Given the description of an element on the screen output the (x, y) to click on. 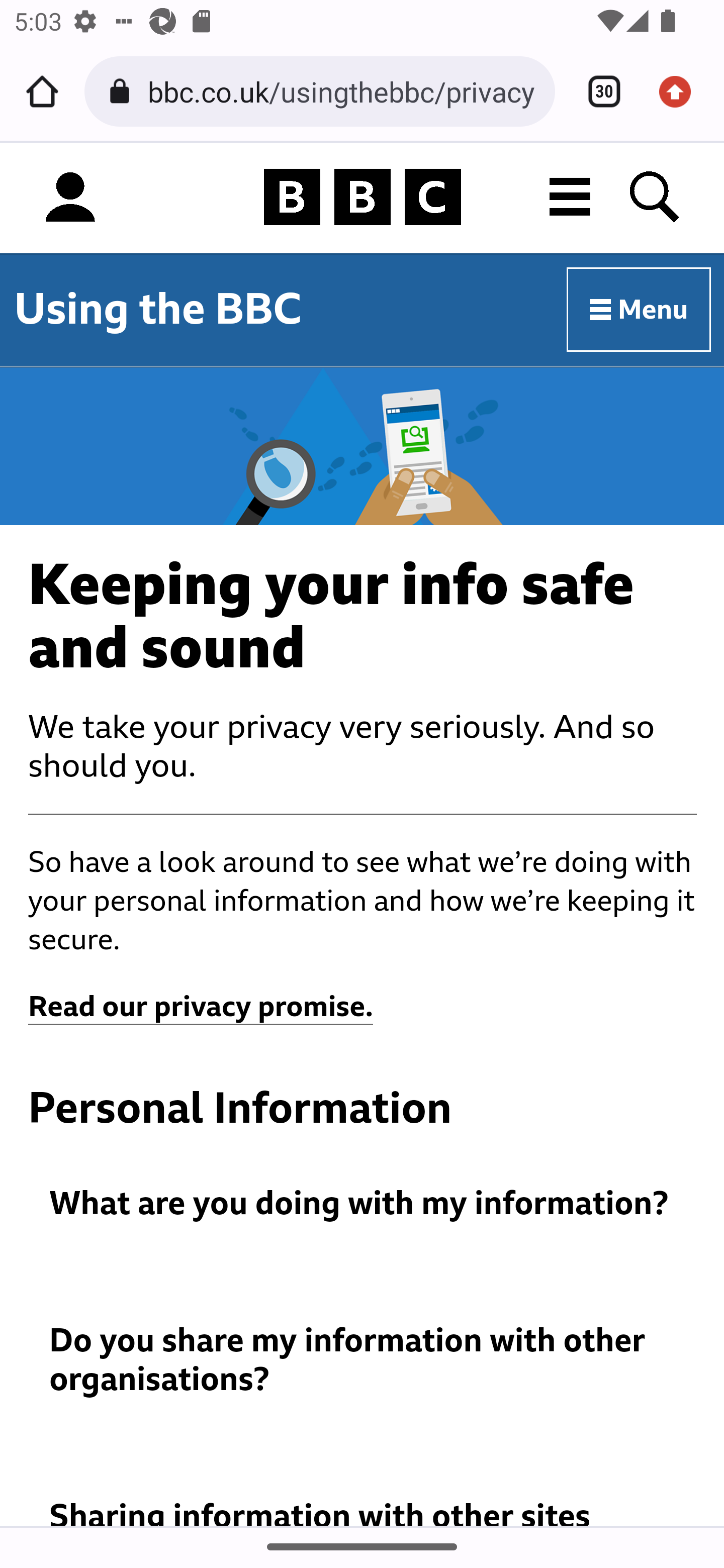
Home (42, 91)
Connection is secure (122, 91)
Switch or close tabs (597, 91)
Update available. More options (681, 91)
bbc.co.uk/usingthebbc/privacy (343, 90)
All BBC destinations menu (570, 197)
Search BBC (655, 197)
Sign in (70, 198)
Homepage (361, 198)
Menu (639, 310)
Using the BBC (157, 308)
Read our privacy promise. (201, 1007)
What are you doing with my information? (362, 1203)
Sharing information with other sites (362, 1511)
